Given the description of an element on the screen output the (x, y) to click on. 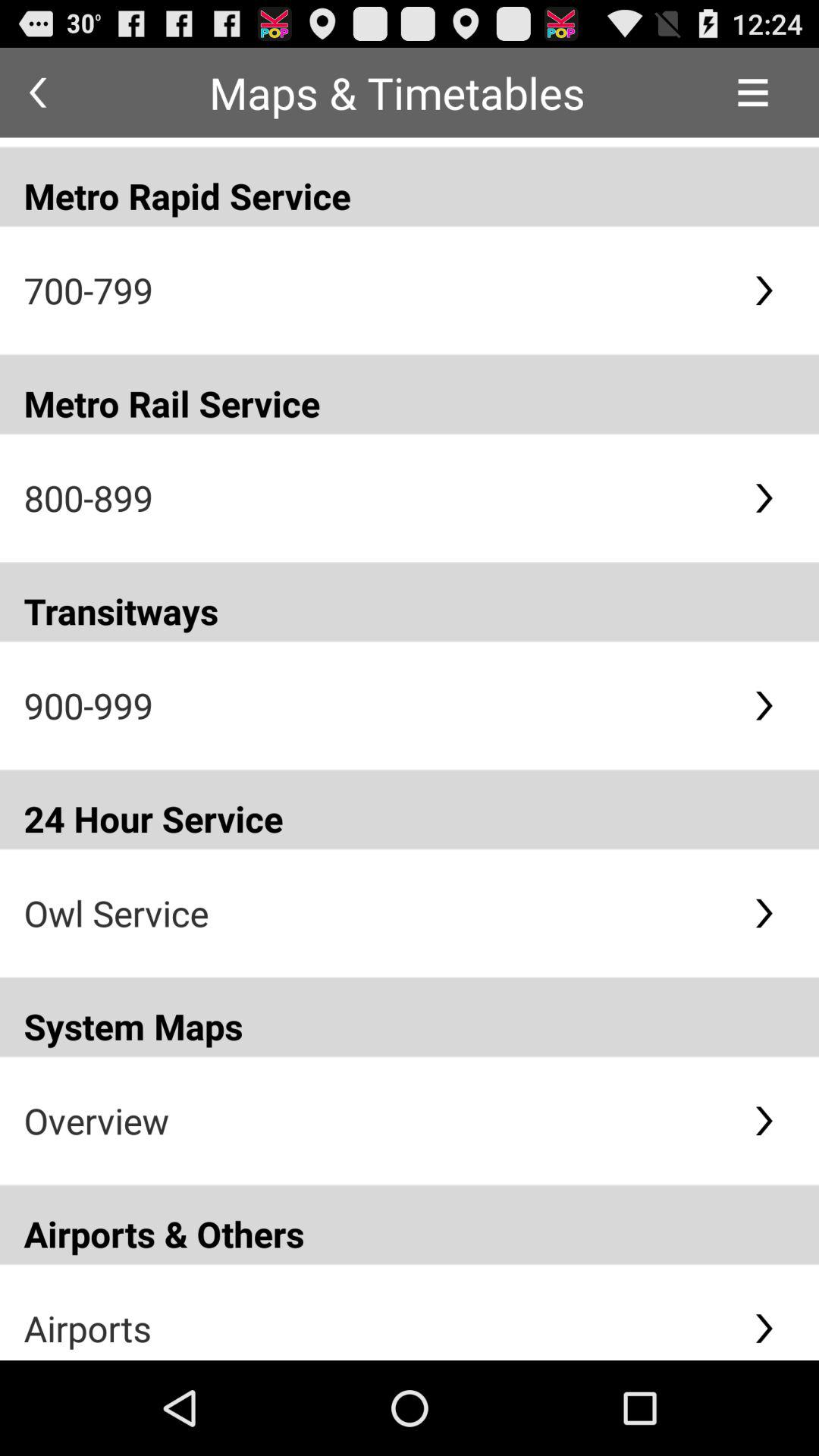
open the app above 24 hour service (376, 705)
